Given the description of an element on the screen output the (x, y) to click on. 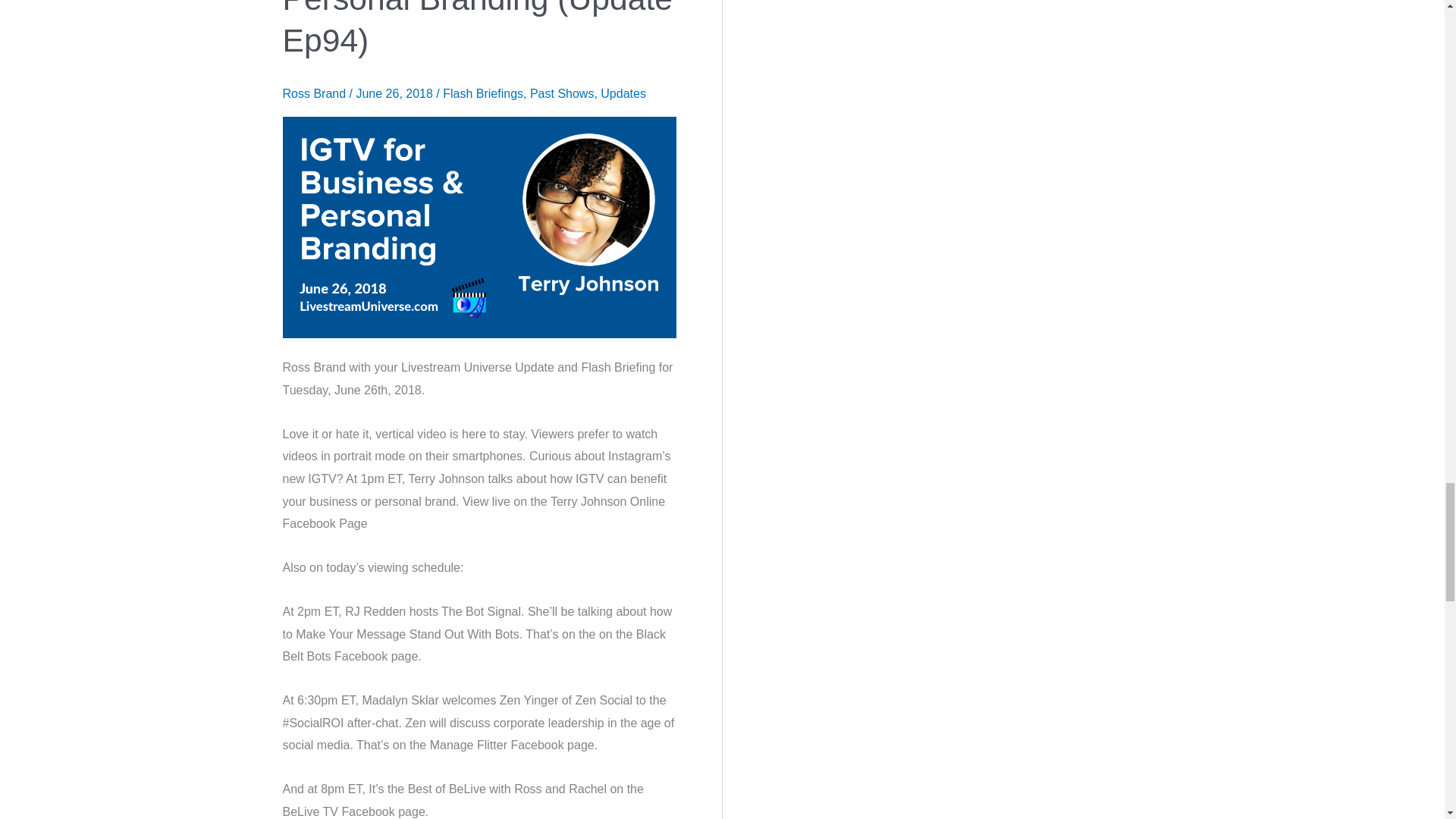
View all posts by Ross Brand (315, 92)
